Given the description of an element on the screen output the (x, y) to click on. 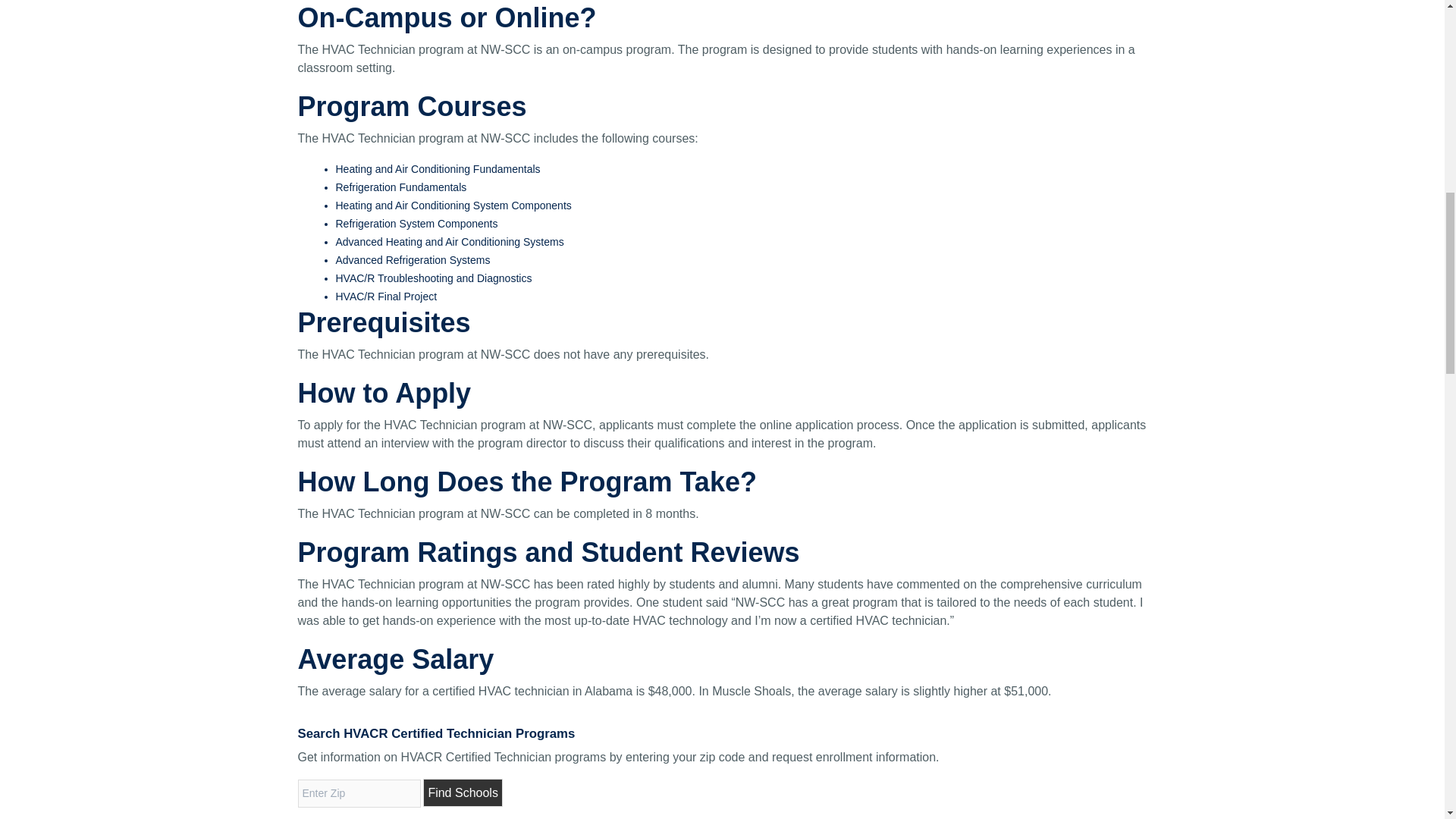
Find Schools (462, 792)
Find Schools (462, 792)
